Given the description of an element on the screen output the (x, y) to click on. 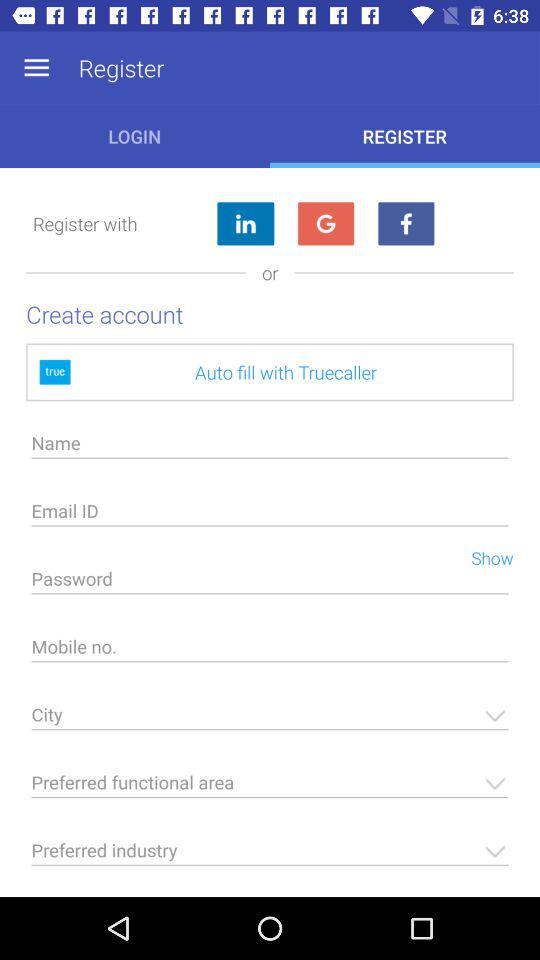
scroll until show icon (484, 556)
